Given the description of an element on the screen output the (x, y) to click on. 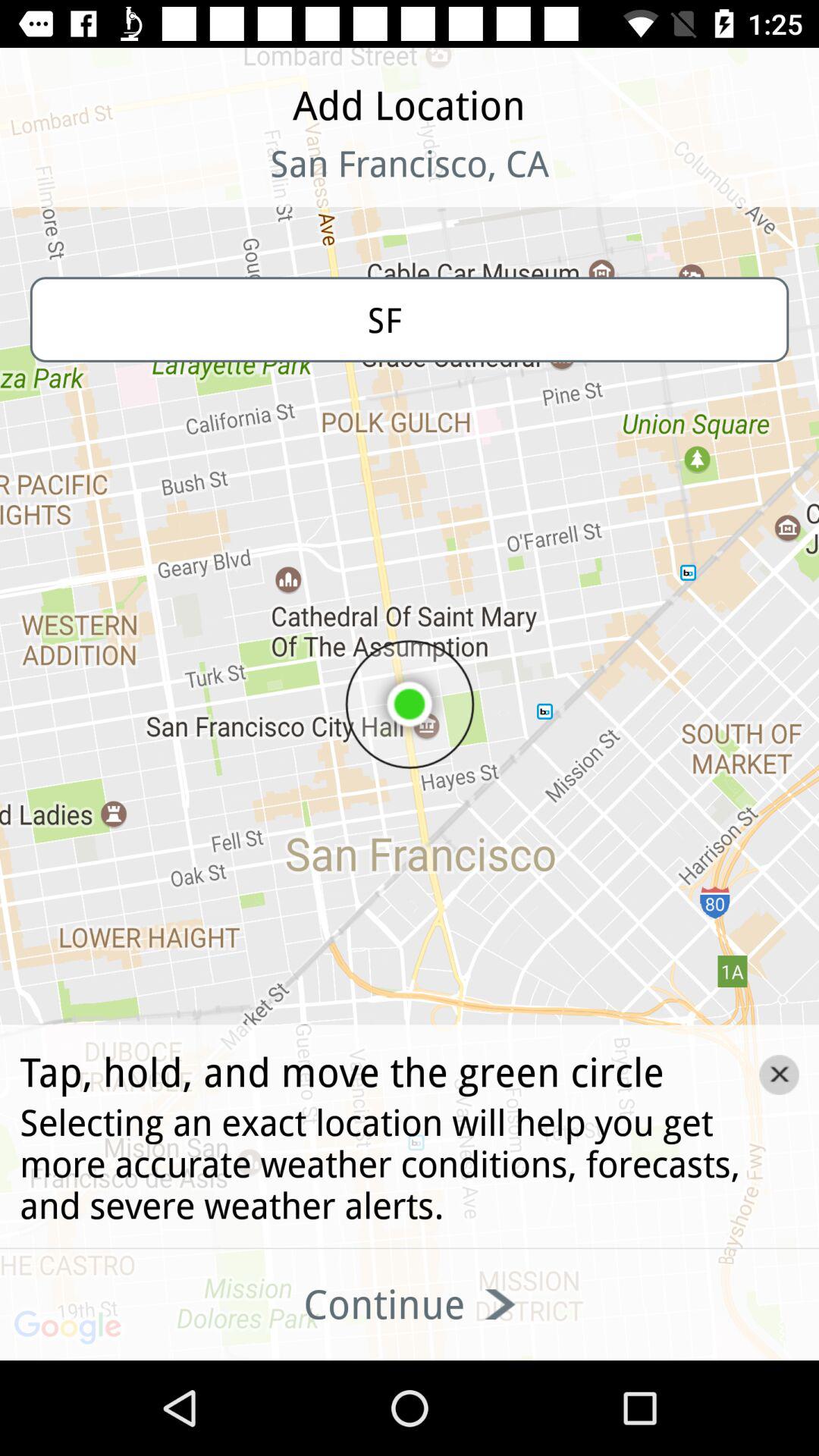
press the icon to the left of san francisco, ca icon (99, 182)
